Given the description of an element on the screen output the (x, y) to click on. 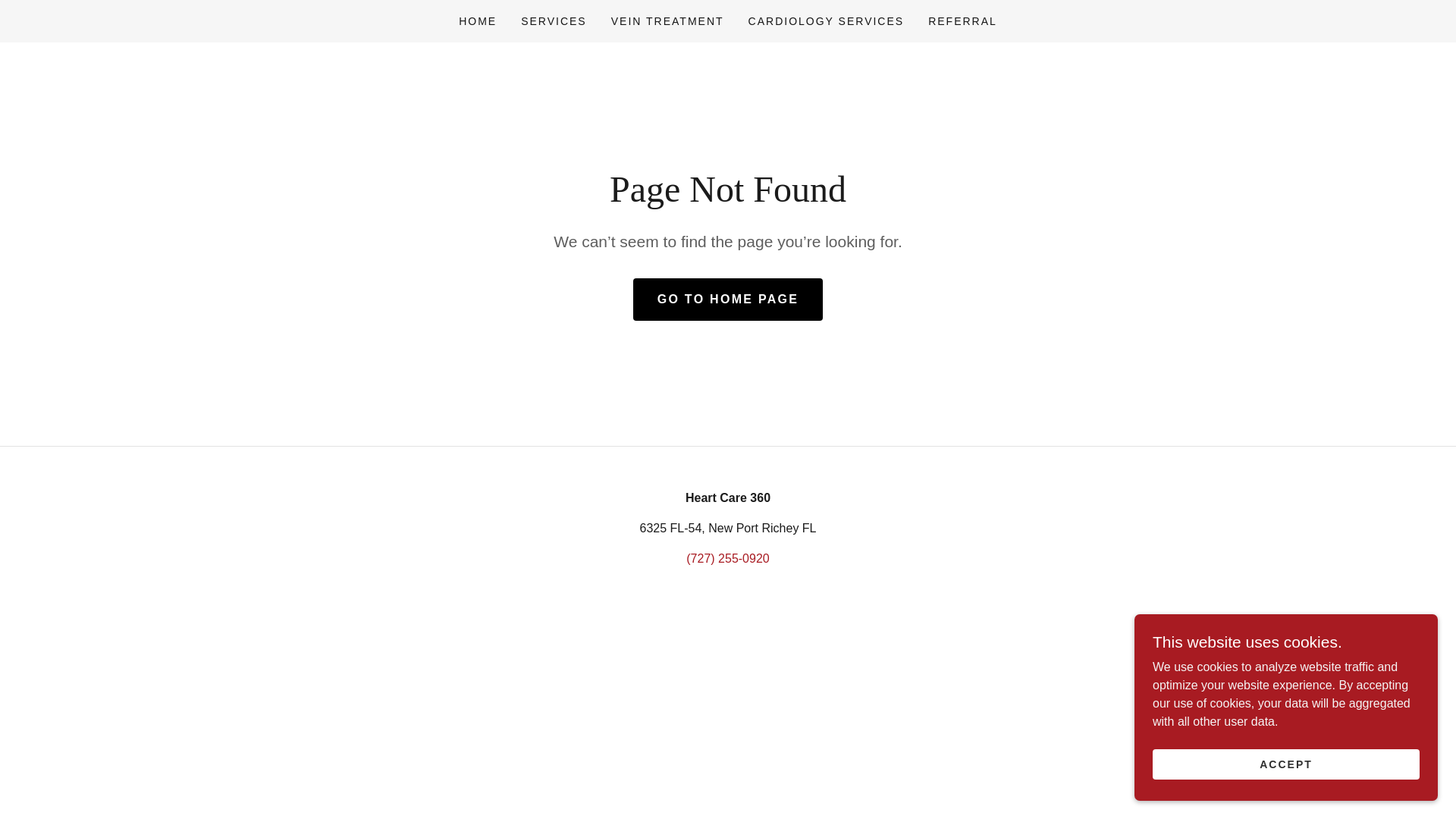
REFERRAL (962, 21)
GO TO HOME PAGE (728, 299)
SERVICES (553, 21)
VEIN TREATMENT (668, 21)
ACCEPT (1286, 764)
CARDIOLOGY SERVICES (826, 21)
HOME (477, 21)
